Given the description of an element on the screen output the (x, y) to click on. 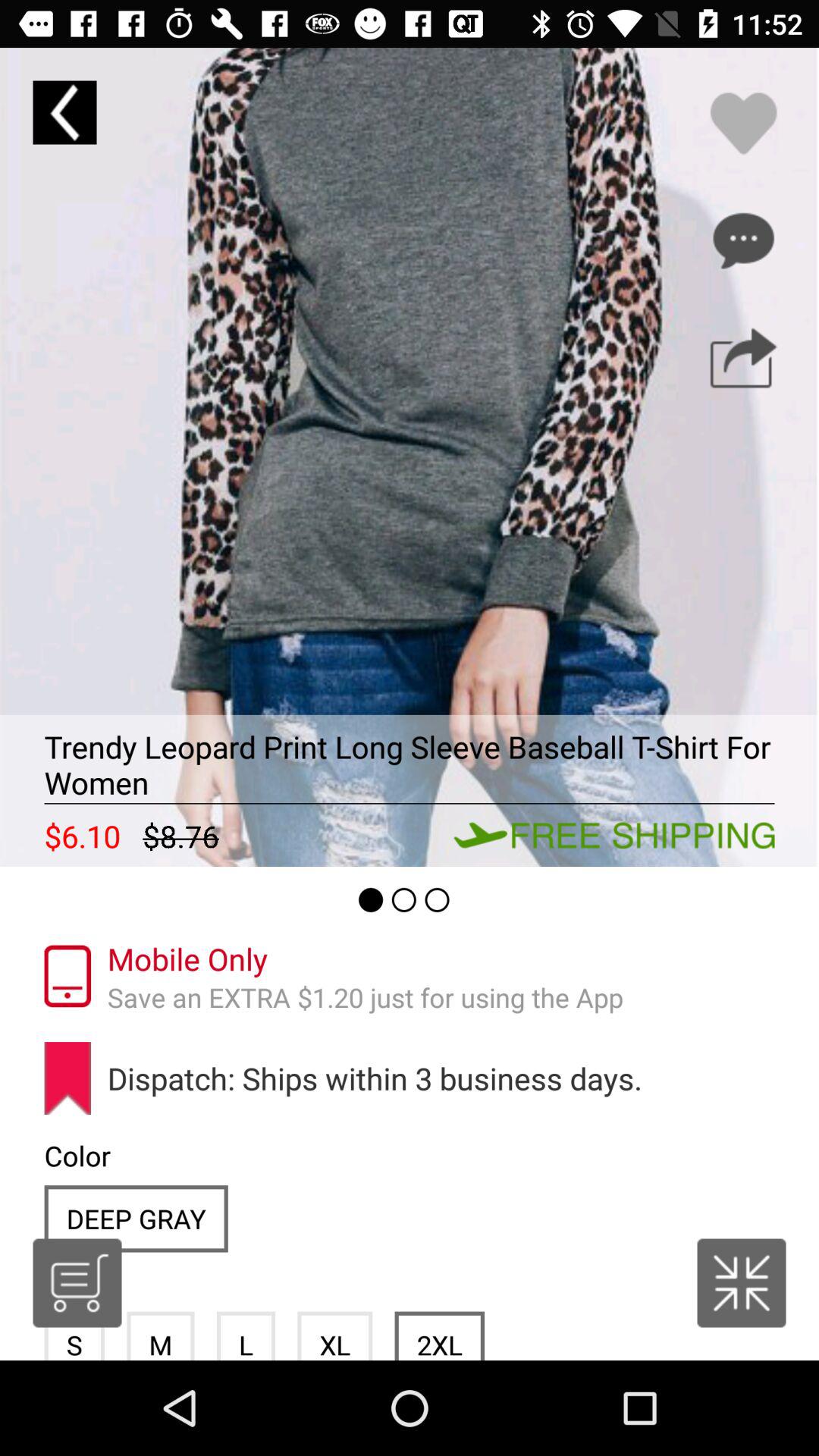
like button (743, 122)
